Given the description of an element on the screen output the (x, y) to click on. 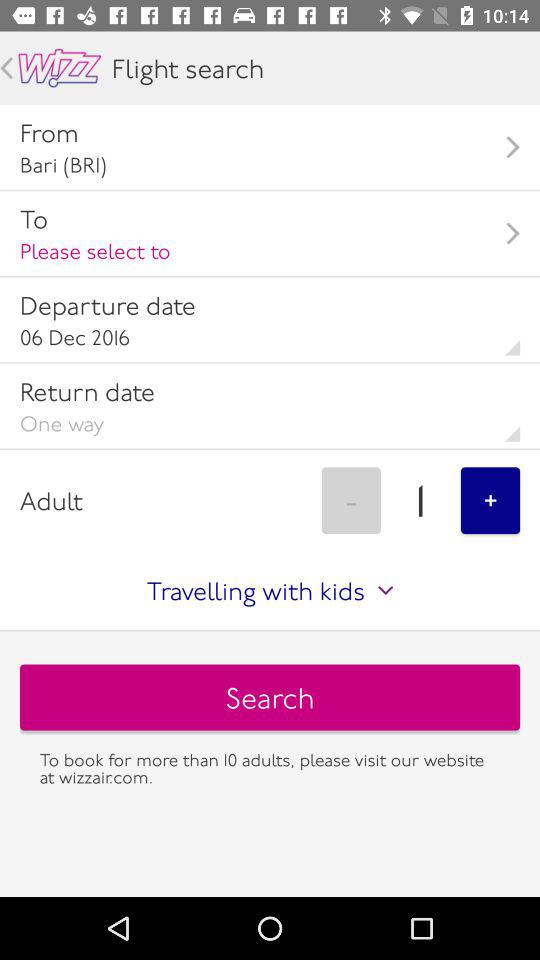
go back (6, 67)
